Given the description of an element on the screen output the (x, y) to click on. 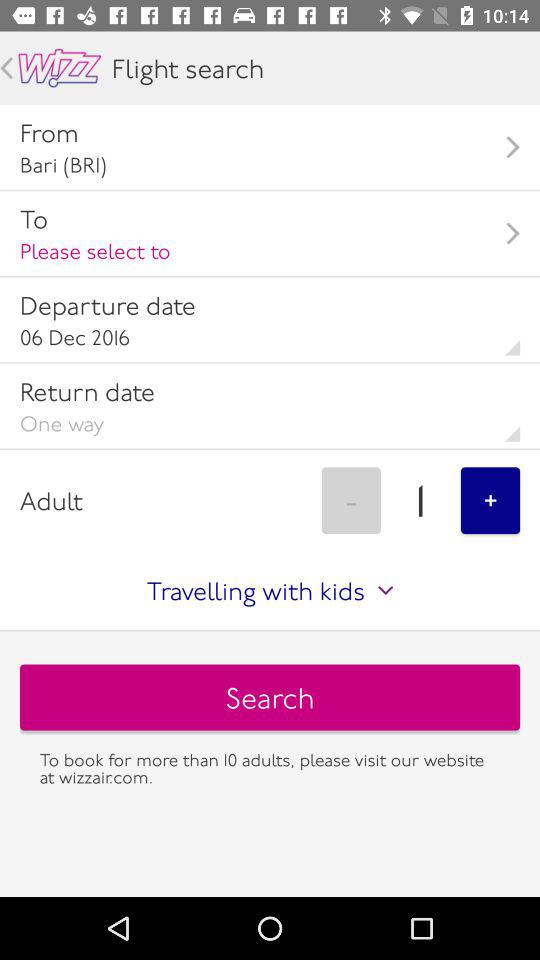
go back (6, 67)
